Given the description of an element on the screen output the (x, y) to click on. 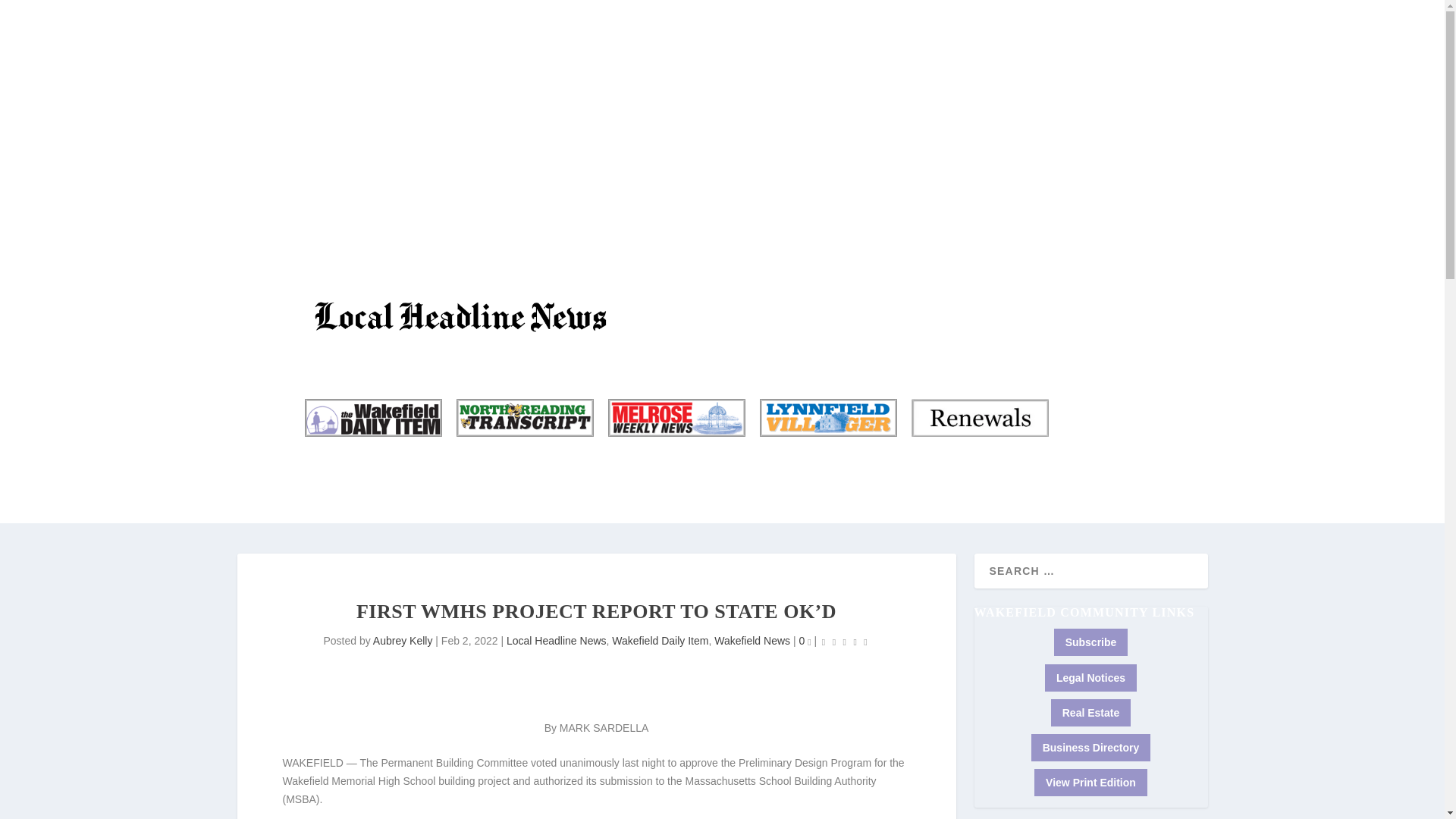
Real Estate (1091, 712)
Login (1118, 112)
Rating: 0.00 (844, 641)
0 (803, 640)
Legal Notices (1091, 677)
Posts by Aubrey Kelly (402, 640)
Lynnfield Villager (827, 417)
Subscribe (336, 94)
Business Directory (1090, 103)
Aubrey Kelly (402, 640)
